Given the description of an element on the screen output the (x, y) to click on. 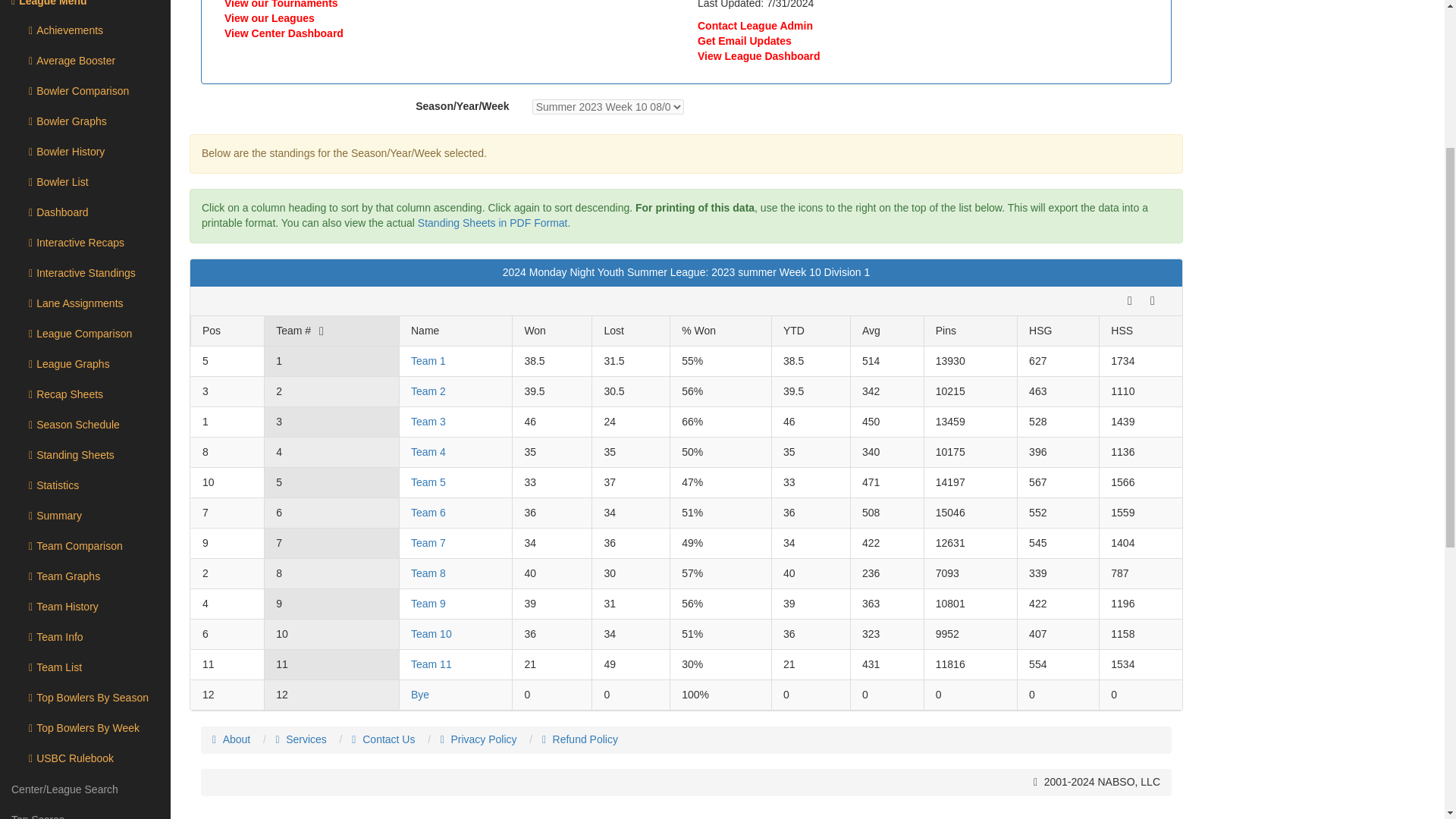
Team History (85, 607)
View our Leagues (269, 18)
League Menu (85, 7)
Bowler History (85, 152)
Export to CSV (1152, 300)
Top Bowlers By Season (85, 698)
Summary (85, 516)
Click here to sort (1040, 330)
Achievements (85, 30)
Click here to sort (870, 330)
